Given the description of an element on the screen output the (x, y) to click on. 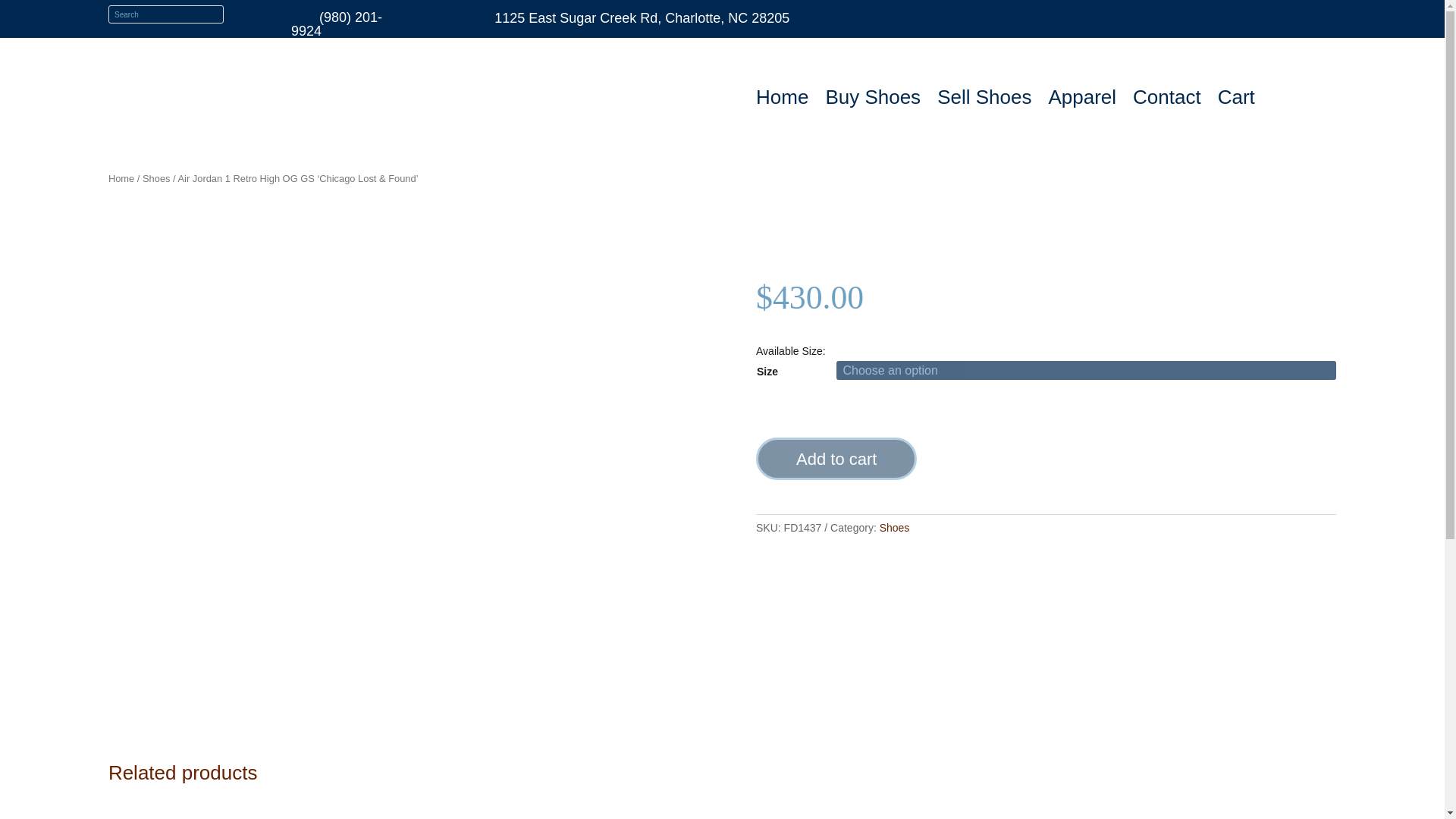
Shoes (894, 527)
Home (781, 99)
Contact (1166, 99)
Add to cart (836, 458)
Shoes (156, 178)
Cart (1236, 99)
Sell Shoes (983, 99)
Apparel (1082, 99)
Buy Shoes (872, 99)
Search (24, 13)
Home (120, 178)
